Given the description of an element on the screen output the (x, y) to click on. 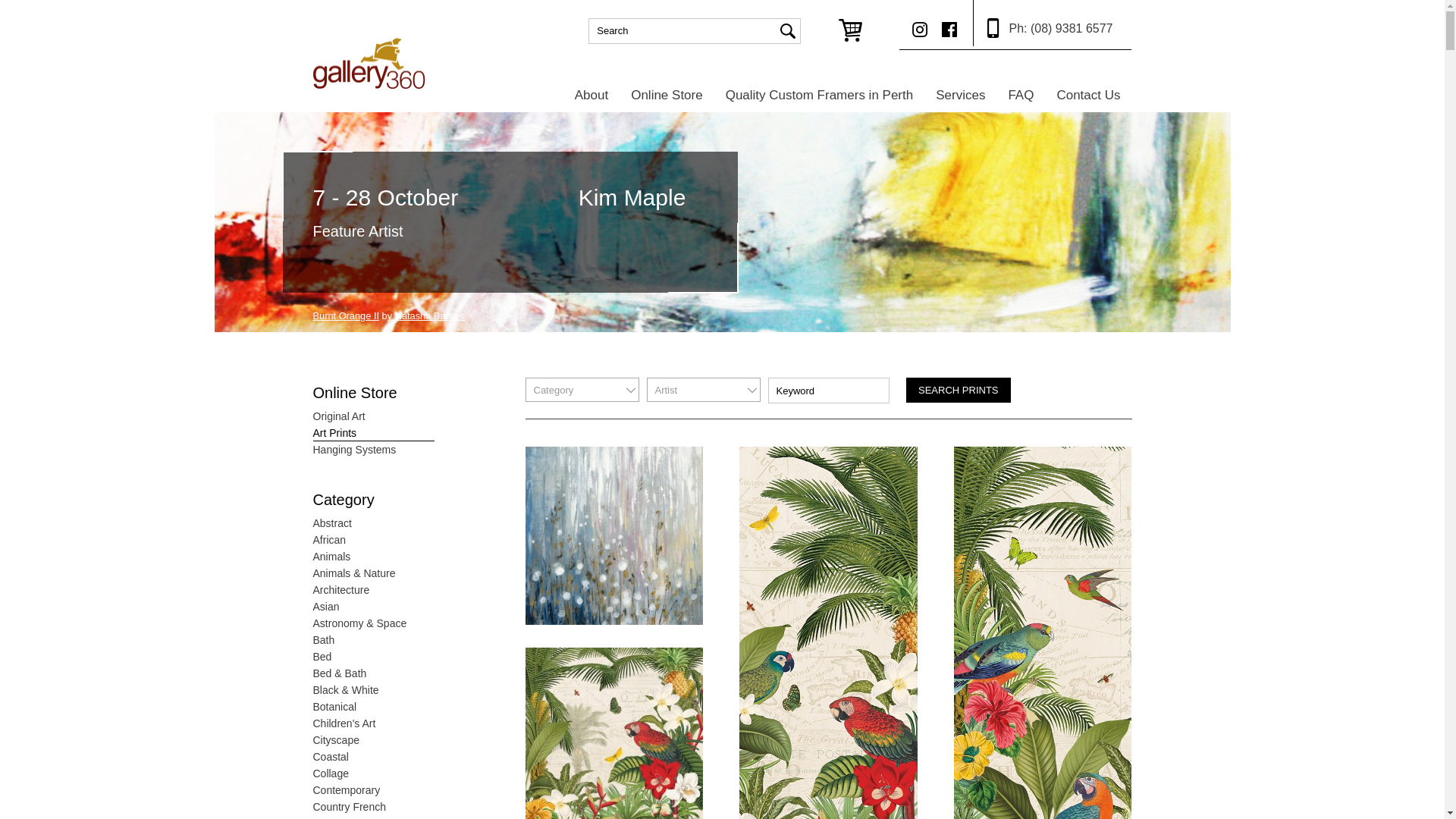
Hanging Systems Element type: text (372, 449)
Quality Custom Framers in Perth Element type: text (819, 94)
SEARCH PRINTS Element type: text (958, 389)
Original Art Element type: text (372, 415)
Art Prints Element type: text (372, 432)
Contact Us Element type: text (1087, 94)
Ph: (08) 9381 6577 Element type: text (1042, 23)
Online Store Element type: text (666, 94)
Burnt Orange II Element type: text (345, 315)
Services Element type: text (960, 94)
About Element type: text (591, 94)
Cart Element type: hover (850, 30)
Natasha Barnes Element type: text (429, 315)
FAQ Element type: text (1020, 94)
